Given the description of an element on the screen output the (x, y) to click on. 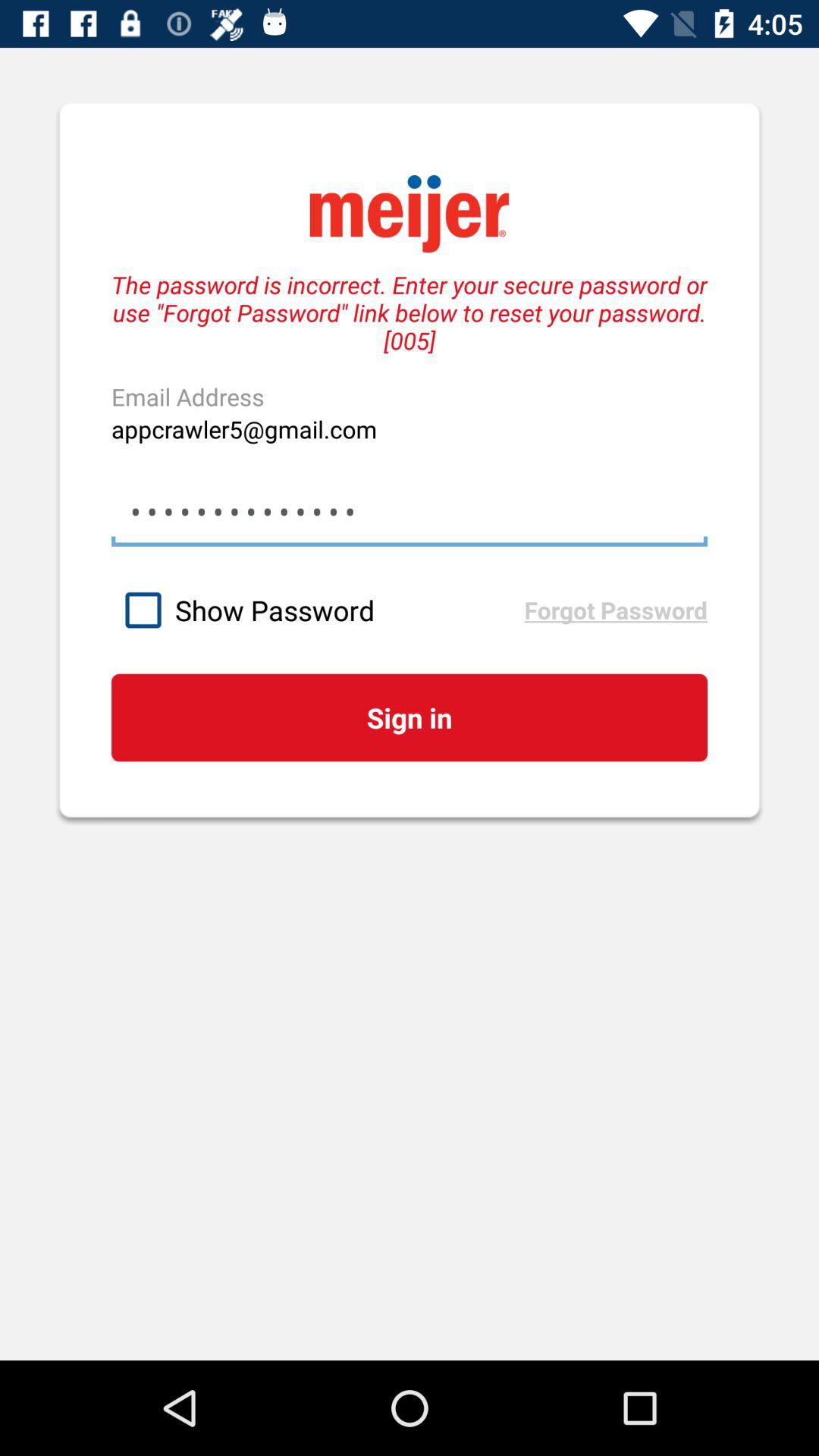
open icon above show password (409, 511)
